Given the description of an element on the screen output the (x, y) to click on. 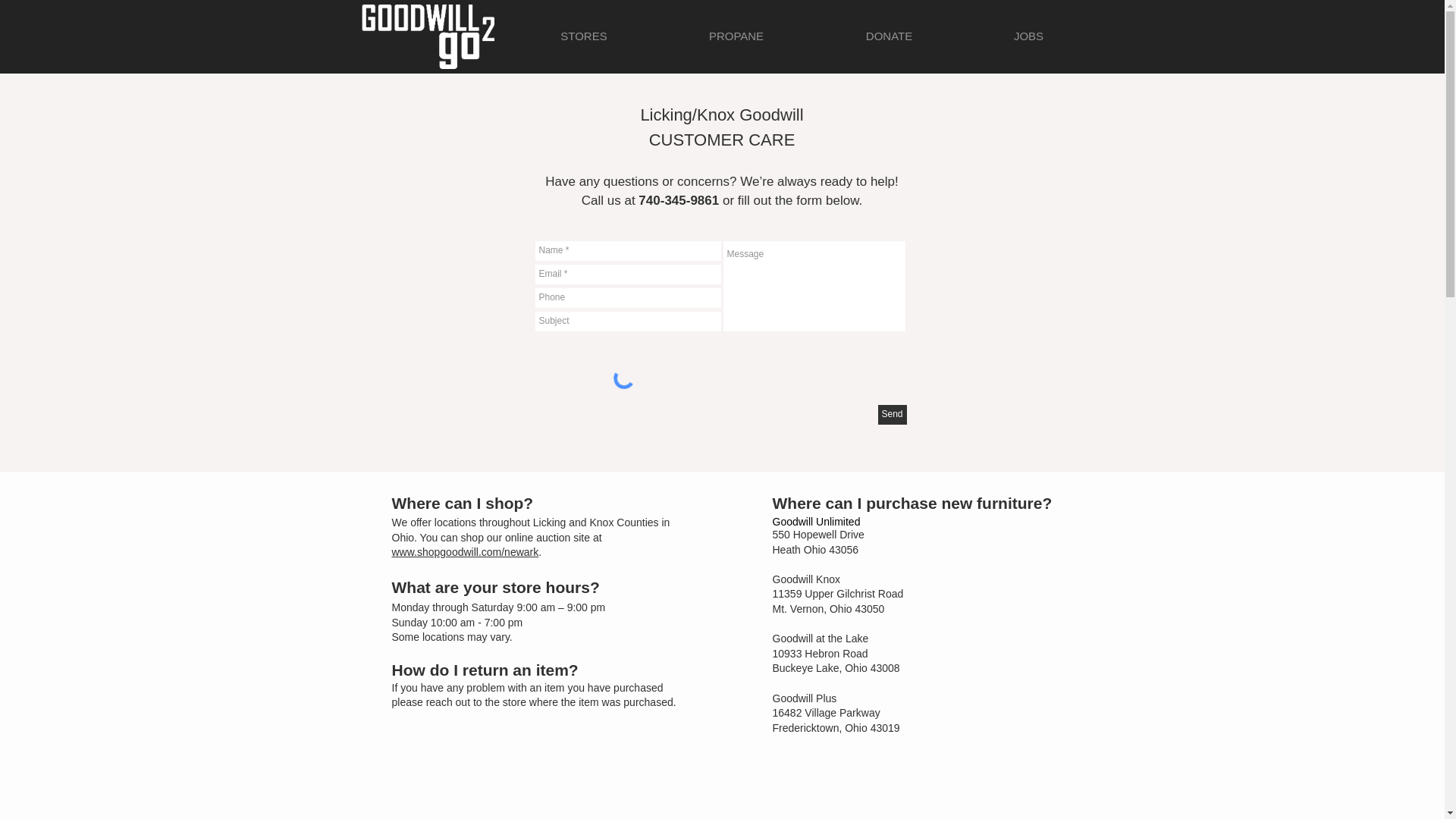
JOBS (1027, 36)
DONATE (887, 36)
PROPANE (736, 36)
STORES (583, 36)
Send (892, 414)
